Given the description of an element on the screen output the (x, y) to click on. 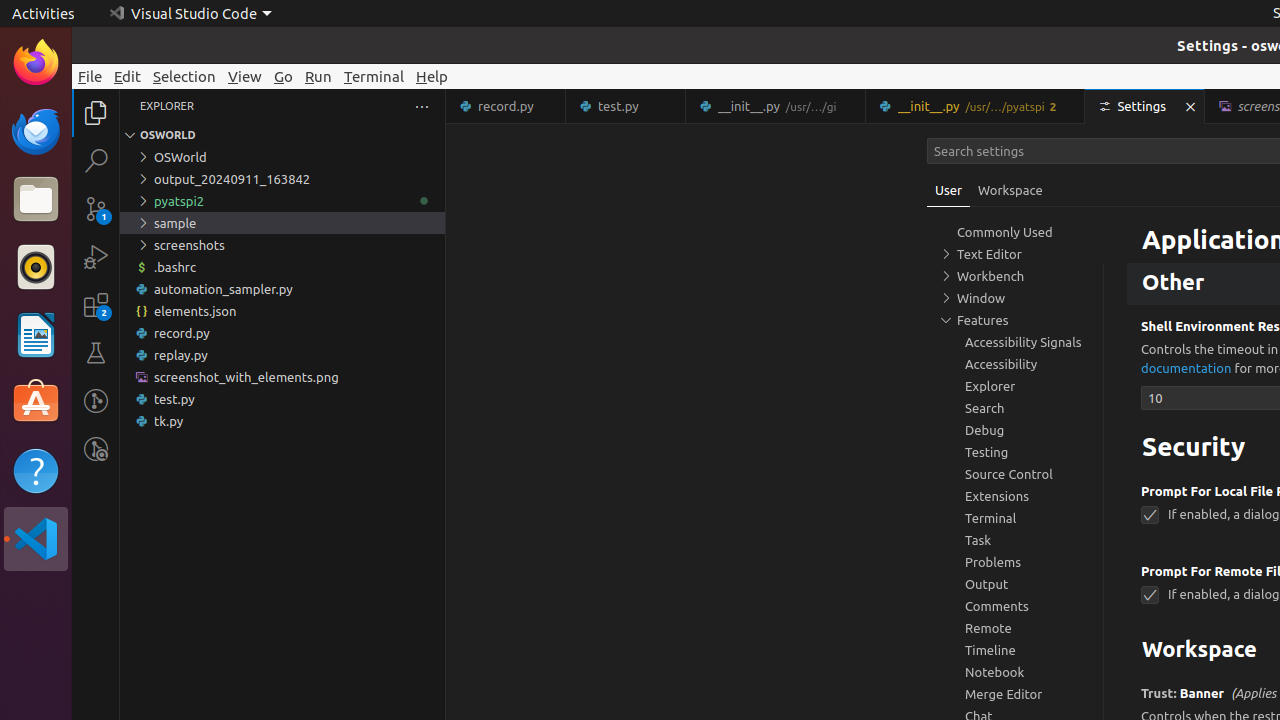
elements.json Element type: tree-item (282, 311)
application.experimental.rendererProfiling Element type: check-box (1150, 228)
File Element type: push-button (90, 76)
sample Element type: tree-item (282, 223)
Search (Ctrl+Shift+F) Element type: page-tab (96, 160)
